Given the description of an element on the screen output the (x, y) to click on. 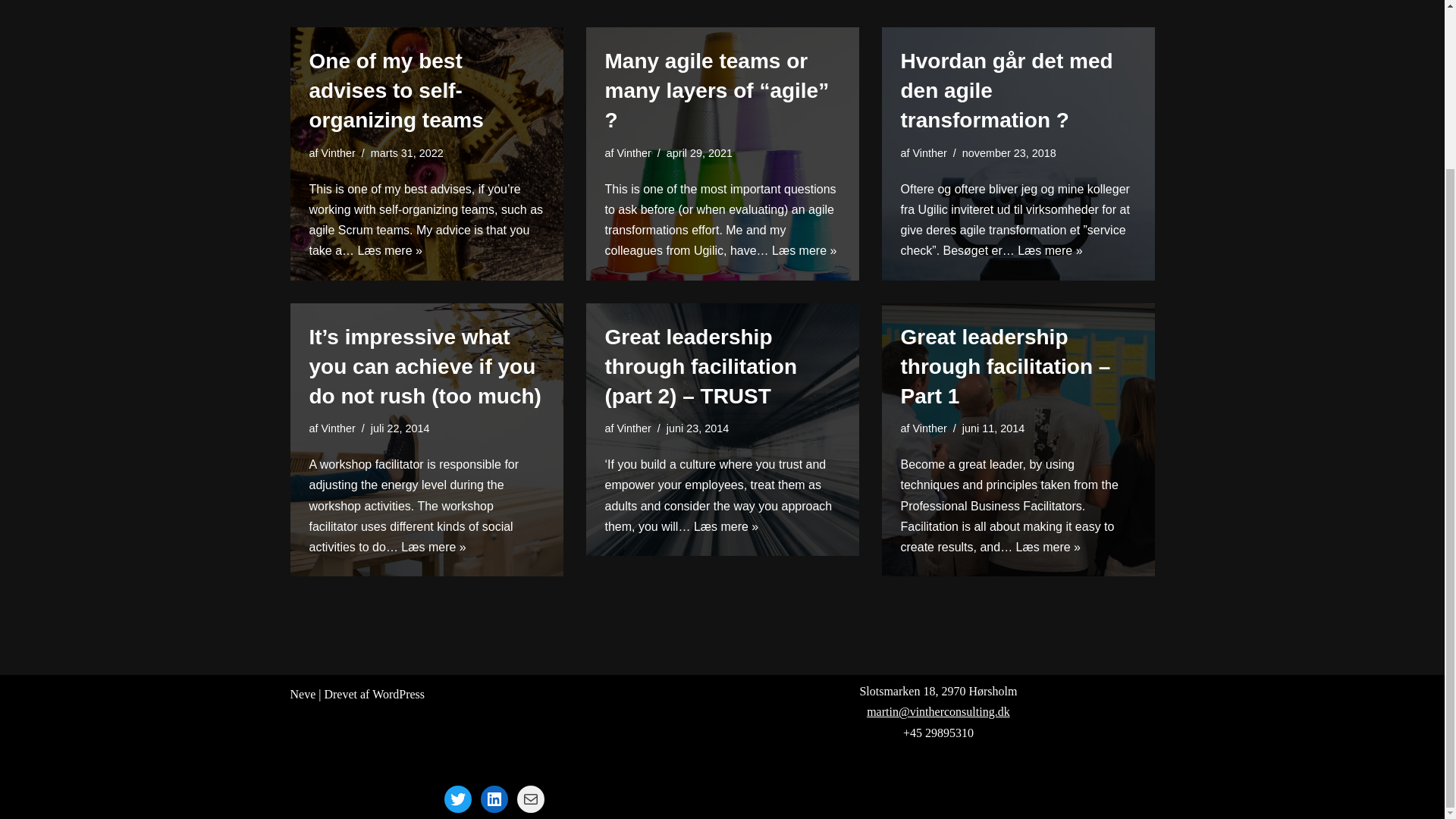
Neve (302, 694)
One of my best advises to self-organizing teams (395, 90)
WordPress (398, 694)
Vinther (338, 428)
Vinther (929, 428)
Vinther (633, 428)
Vinther (338, 152)
Vinther (633, 152)
Vinther (929, 152)
